Given the description of an element on the screen output the (x, y) to click on. 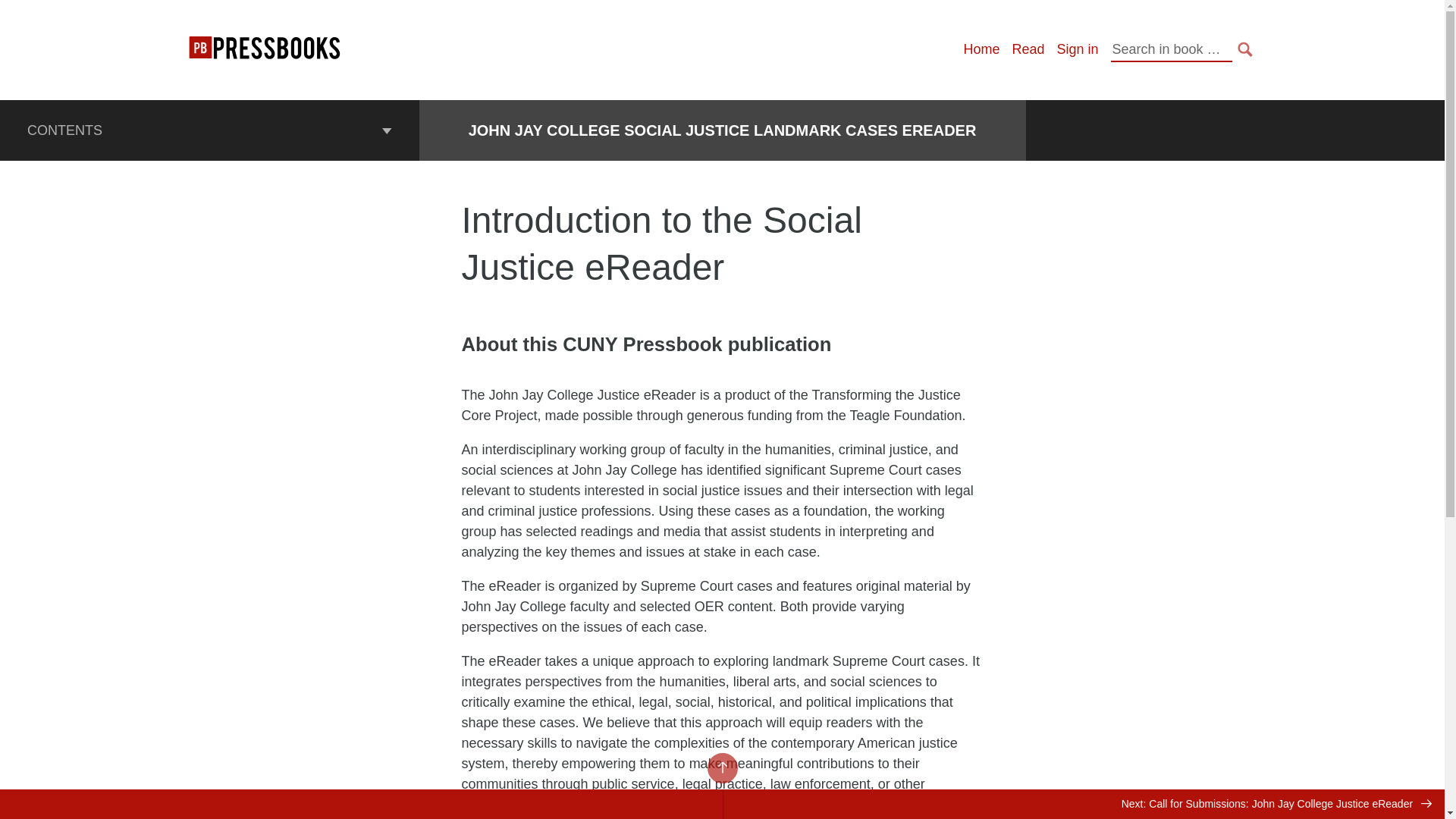
JOHN JAY COLLEGE SOCIAL JUSTICE LANDMARK CASES EREADER (722, 129)
BACK TO TOP (721, 767)
Sign in (1077, 48)
Home (980, 48)
Read (1027, 48)
CONTENTS (209, 129)
